Given the description of an element on the screen output the (x, y) to click on. 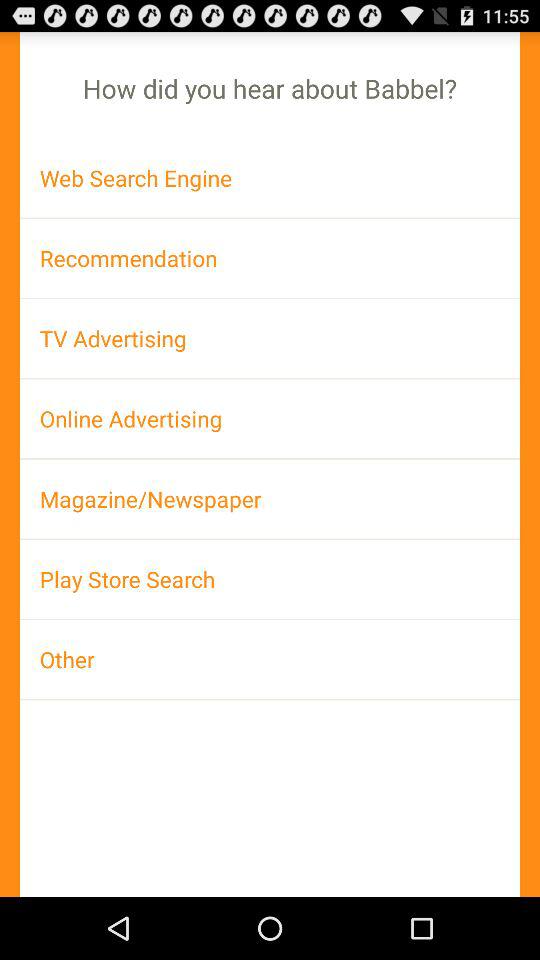
press the item below online advertising item (269, 498)
